Given the description of an element on the screen output the (x, y) to click on. 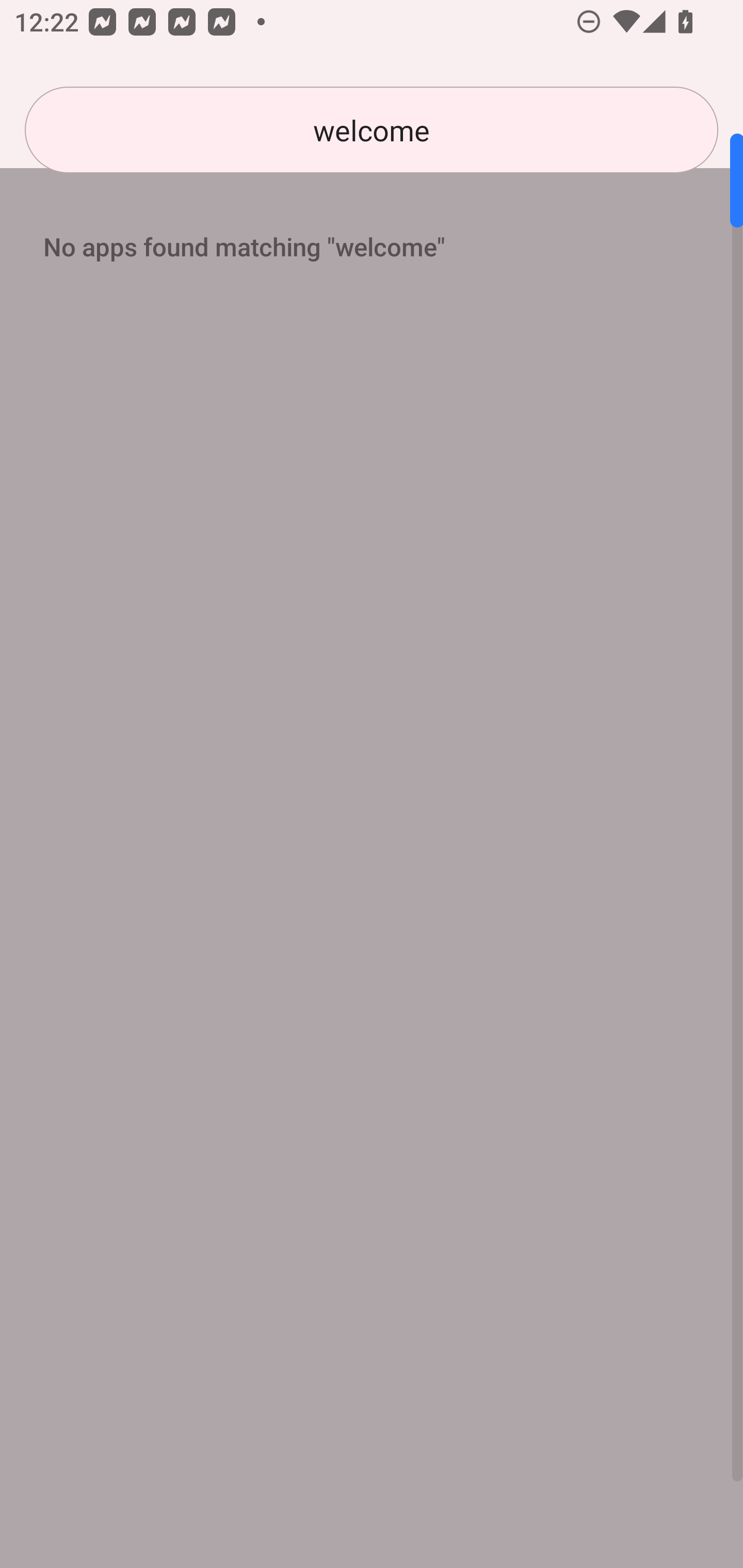
welcome (371, 130)
